Given the description of an element on the screen output the (x, y) to click on. 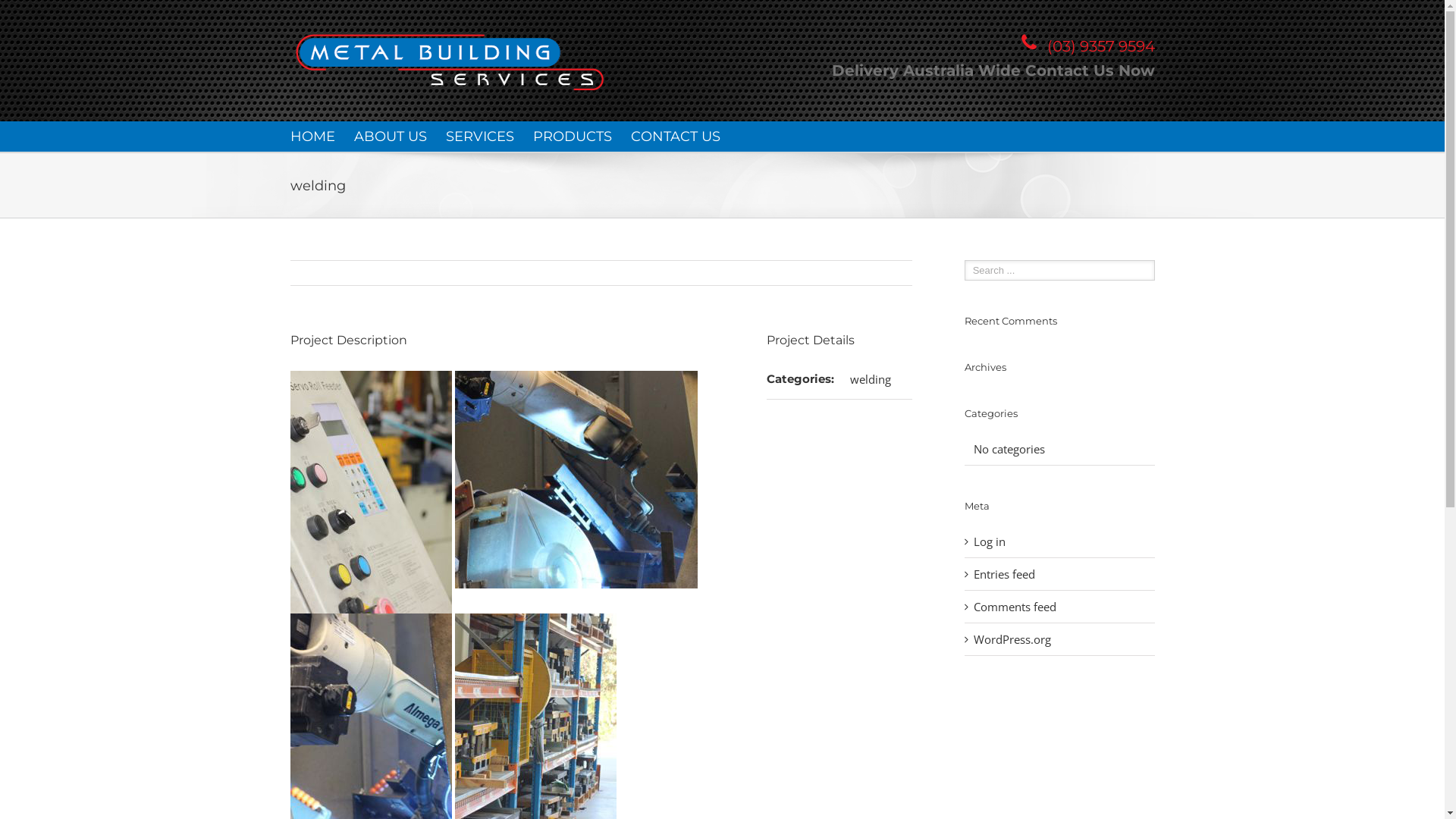
ABOUT US Element type: text (389, 136)
Log in Element type: text (989, 541)
WordPress.org Element type: text (1012, 638)
Entries feed Element type: text (1004, 573)
PRODUCTS Element type: text (571, 136)
welding Element type: text (870, 378)
HOME Element type: text (311, 136)
Comments feed Element type: text (1014, 606)
(03) 9357 9594 Element type: text (1098, 46)
SERVICES Element type: text (479, 136)
CONTACT US Element type: text (675, 136)
